Given the description of an element on the screen output the (x, y) to click on. 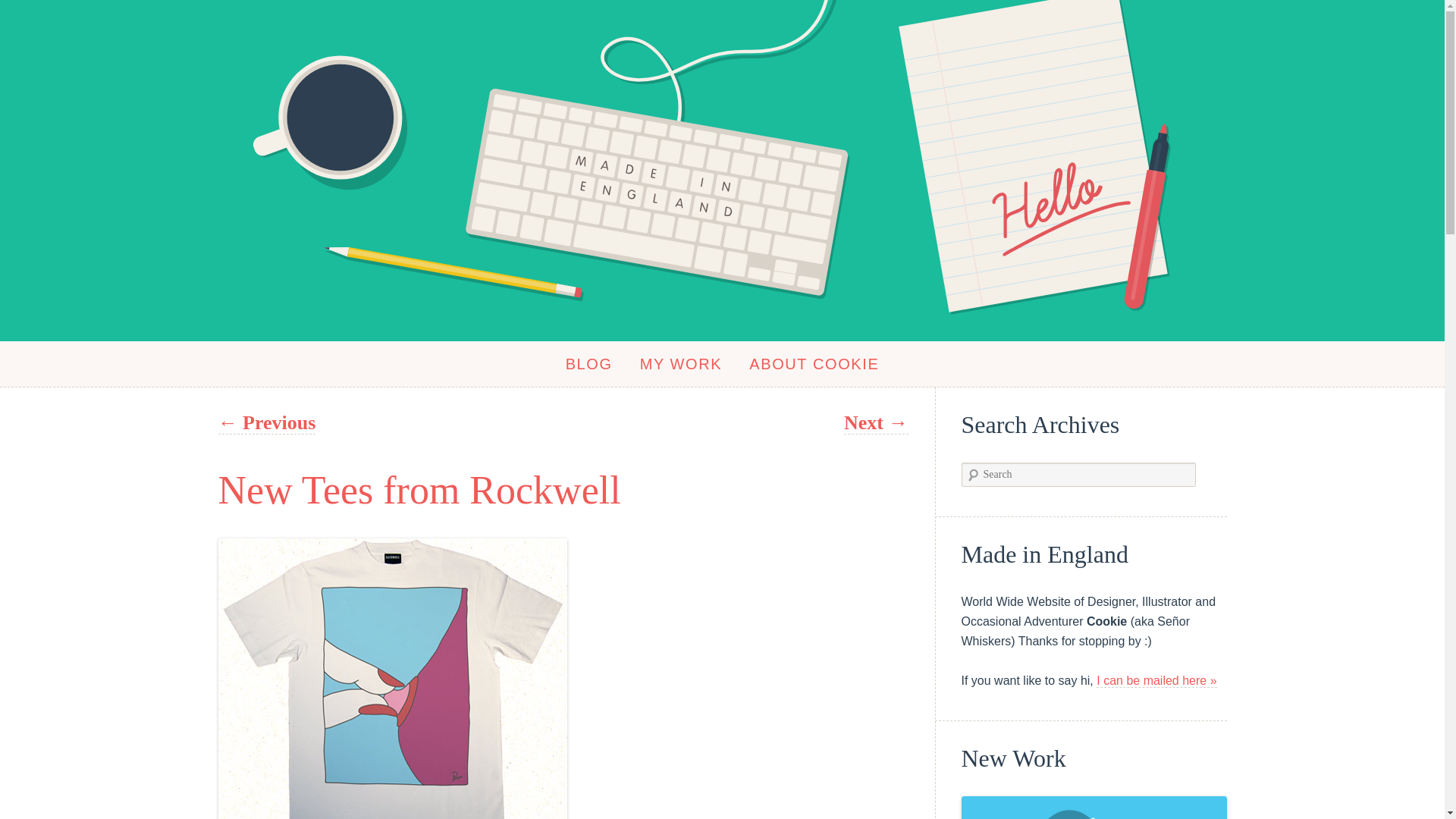
ABOUT COOKIE (813, 363)
Search (24, 14)
MY WORK (681, 363)
titty twister (392, 678)
Believe.in Illustrations (1093, 807)
SKIP TO SECONDARY CONTENT (145, 363)
SKIP TO PRIMARY CONTENT (131, 363)
BLOG (588, 363)
Skip to primary content (131, 363)
Skip to secondary content (145, 363)
